Given the description of an element on the screen output the (x, y) to click on. 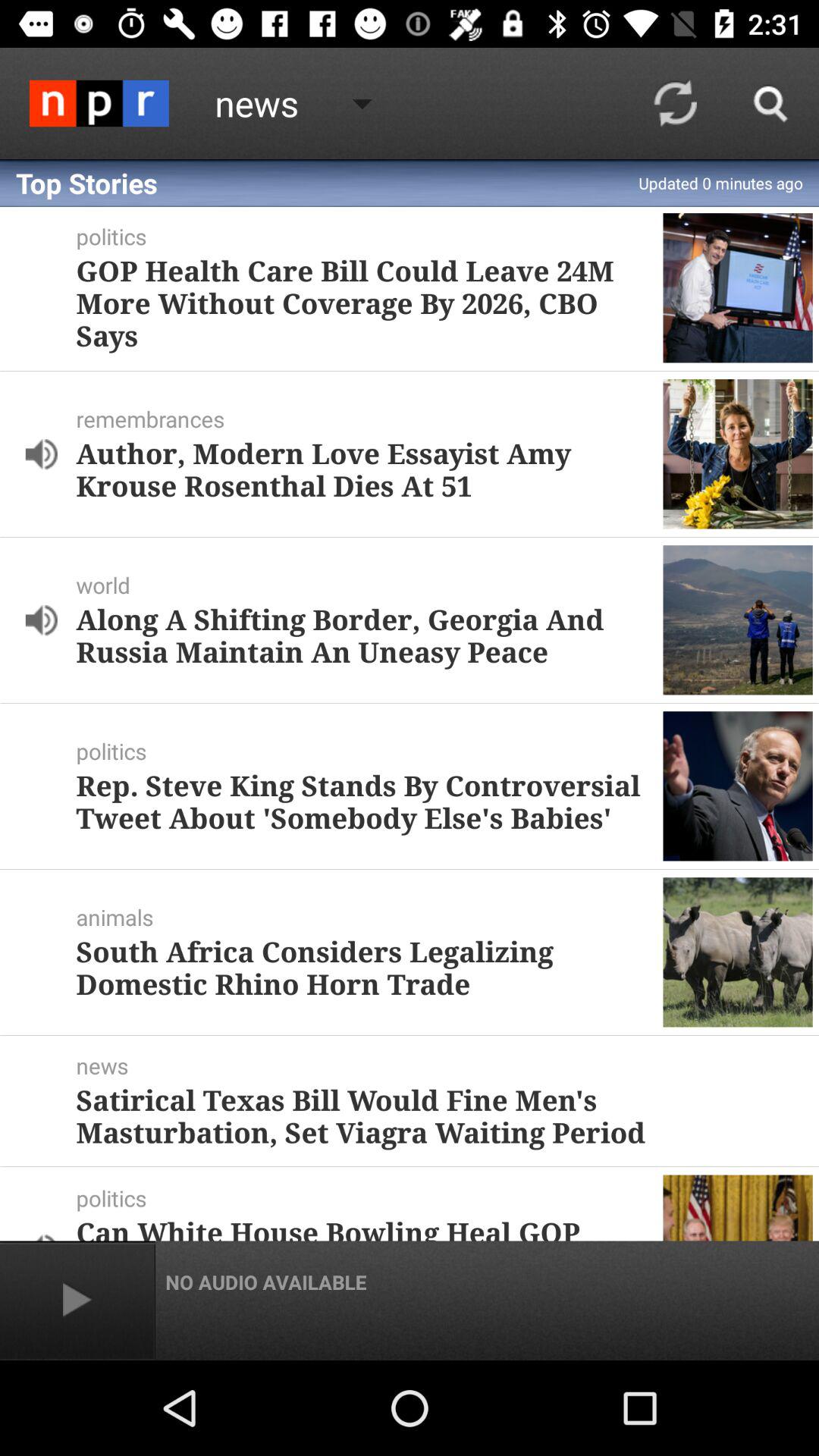
the search icon shown at the top right corner of the page (771, 103)
click on reload icon (675, 103)
click on the third image from top (738, 619)
select the image beside news (98, 103)
